Given the description of an element on the screen output the (x, y) to click on. 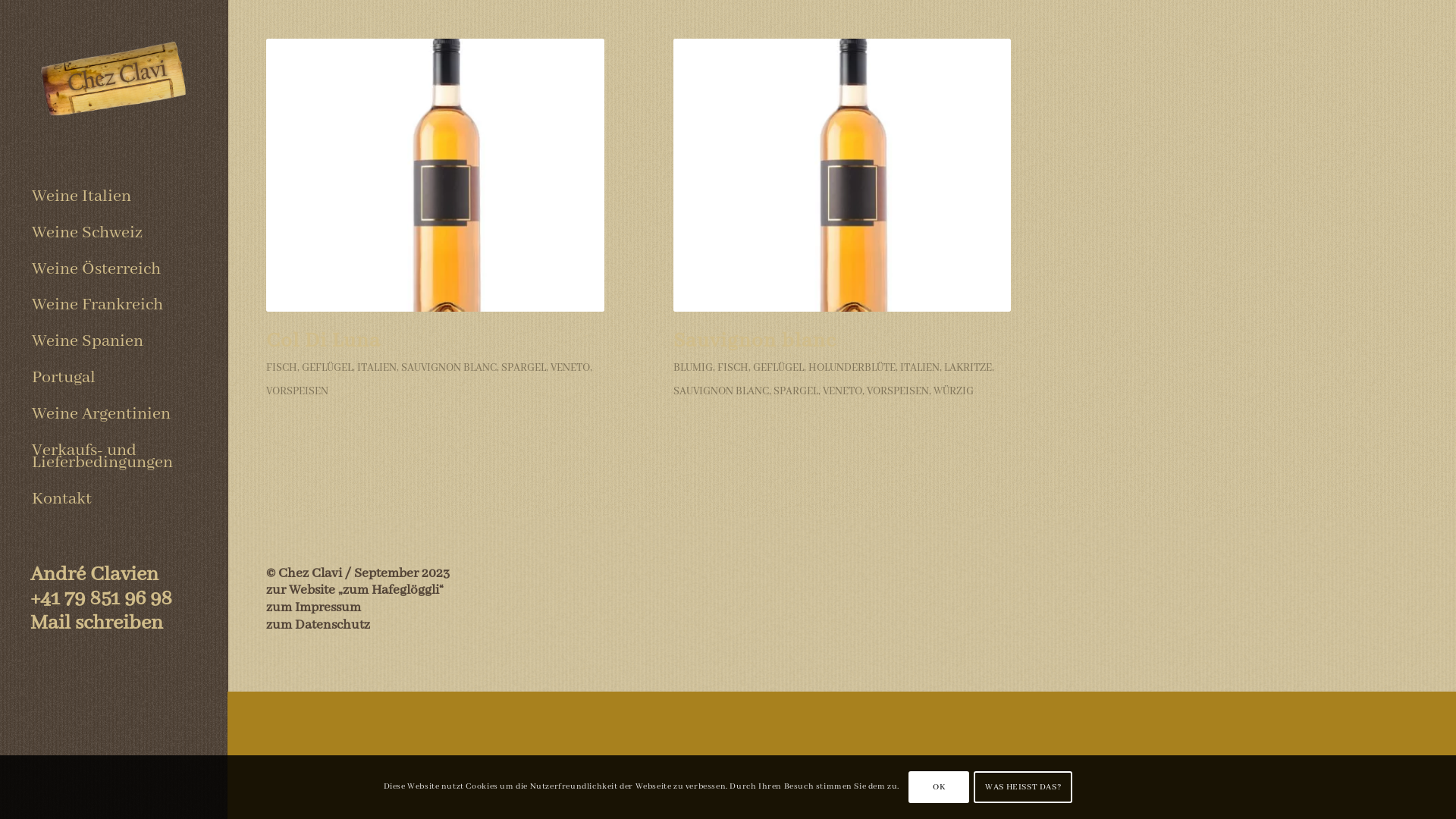
WAS HEISST DAS? Element type: text (1022, 787)
VORSPEISEN Element type: text (297, 391)
OK Element type: text (938, 787)
Portugal Element type: text (113, 378)
LAKRITZE Element type: text (967, 367)
Weine Argentinien Element type: text (113, 414)
FISCH Element type: text (281, 367)
Col Di Luna Element type: text (323, 341)
ITALIEN Element type: text (919, 367)
BLUMIG Element type: text (692, 367)
Sauvignon blanc Element type: text (754, 341)
Weine Frankreich Element type: text (113, 305)
Weine Schweiz Element type: text (113, 233)
zum Impressum Element type: text (313, 607)
Weine Italien Element type: text (113, 196)
SAUVIGNON BLANC Element type: text (448, 367)
VORSPEISEN Element type: text (897, 391)
Col Di Luna Element type: hover (435, 174)
Verkaufs- und Lieferbedingungen Element type: text (113, 456)
SPARGEL Element type: text (795, 391)
VENETO Element type: text (569, 367)
Mail schreiben Element type: text (96, 623)
SPARGEL Element type: text (523, 367)
ITALIEN Element type: text (376, 367)
zum Datenschutz Element type: text (318, 624)
VENETO Element type: text (842, 391)
+41 79 851 96 98 Element type: text (101, 598)
Kontakt Element type: text (113, 499)
Sauvignon blanc Element type: hover (842, 174)
FISCH Element type: text (732, 367)
SAUVIGNON BLANC Element type: text (720, 391)
Weine Spanien Element type: text (113, 341)
chezclavi_logo Element type: hover (113, 81)
